Given the description of an element on the screen output the (x, y) to click on. 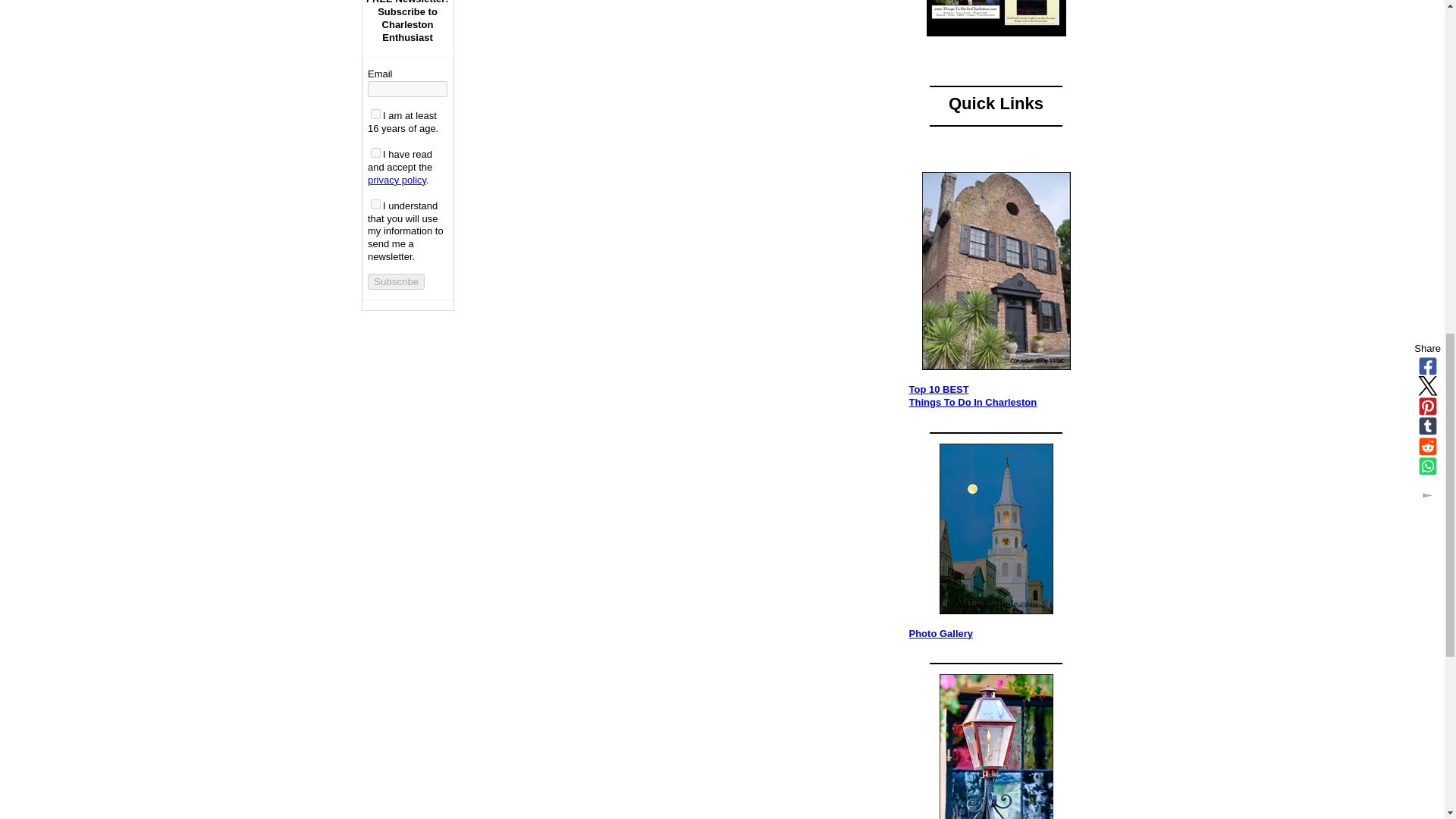
privacy policy (397, 179)
Subscribe (396, 281)
on (375, 204)
Charleston Hospitality Partnership Program (995, 18)
on (375, 153)
on (375, 113)
